Given the description of an element on the screen output the (x, y) to click on. 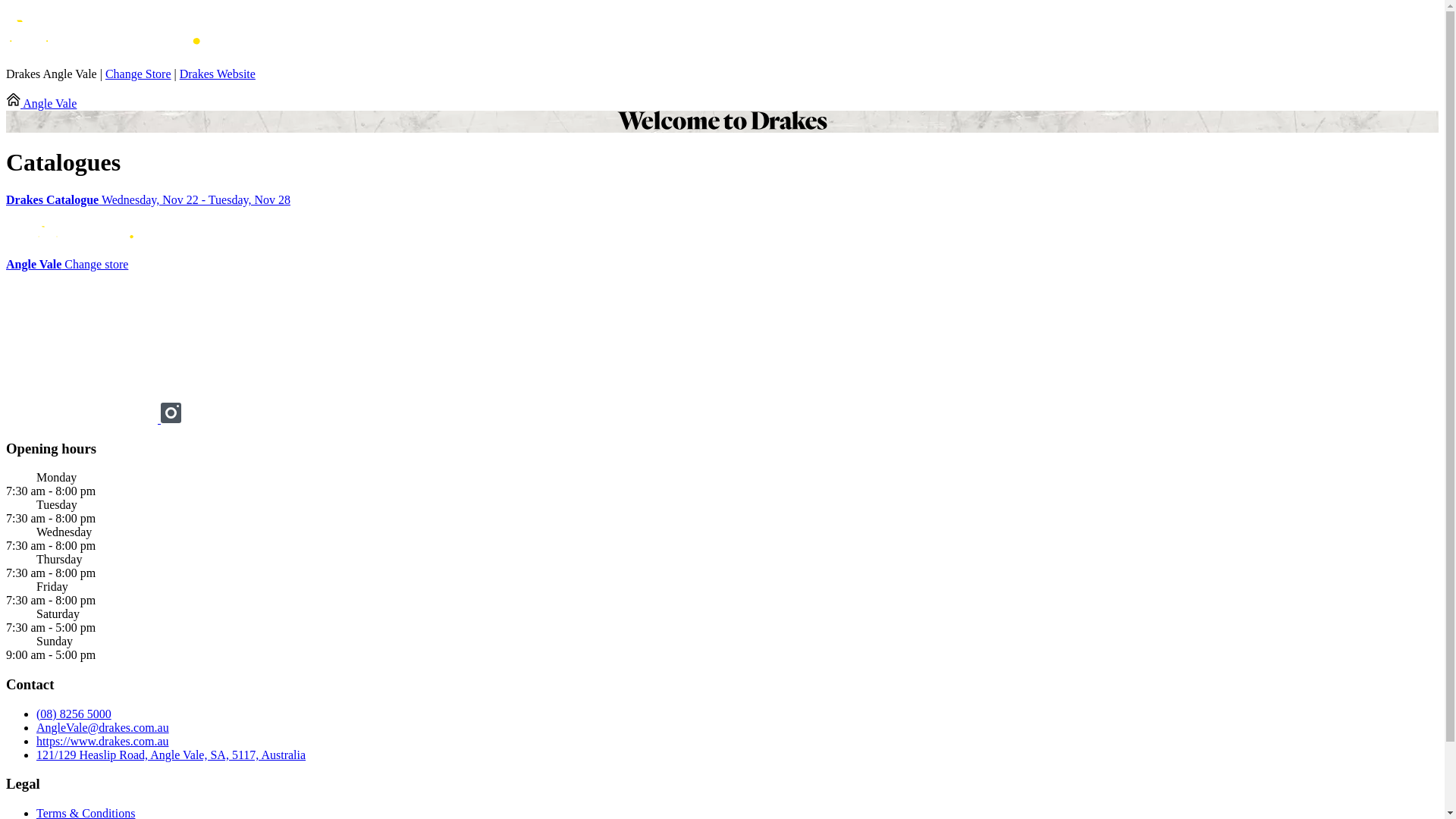
Instagram drakessupermarkets Element type: hover (170, 418)
Angle Vale Element type: text (41, 103)
121/129 Heaslip Road, Angle Vale, SA, 5117, Australia Element type: text (170, 754)
https://www.drakes.com.au Element type: text (102, 740)
Angle Vale Change store Element type: text (67, 263)
AngleVale@drakes.com.au Element type: text (102, 727)
Drakes Catalogue Wednesday, Nov 22 - Tuesday, Nov 28 Element type: text (722, 199)
Change Store Element type: text (138, 73)
Facebook Element type: hover (83, 418)
(08) 8256 5000 Element type: text (73, 713)
Drakes Website Element type: text (217, 73)
